Given the description of an element on the screen output the (x, y) to click on. 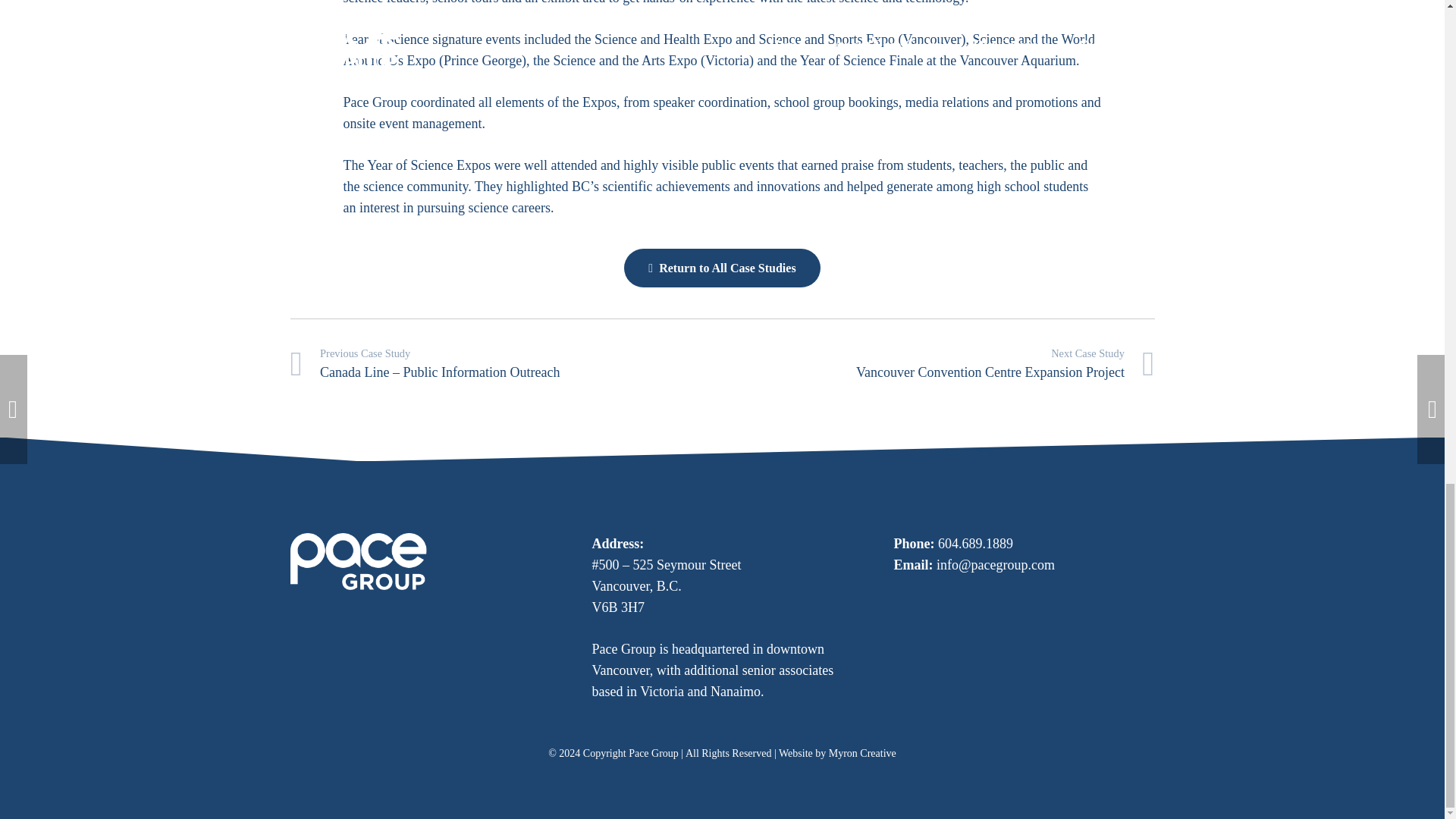
604.689.1889 (975, 543)
Return to All Case Studies (721, 267)
Website by Myron Creative (837, 753)
Vancouver Convention Centre Expansion Project (938, 364)
